Given the description of an element on the screen output the (x, y) to click on. 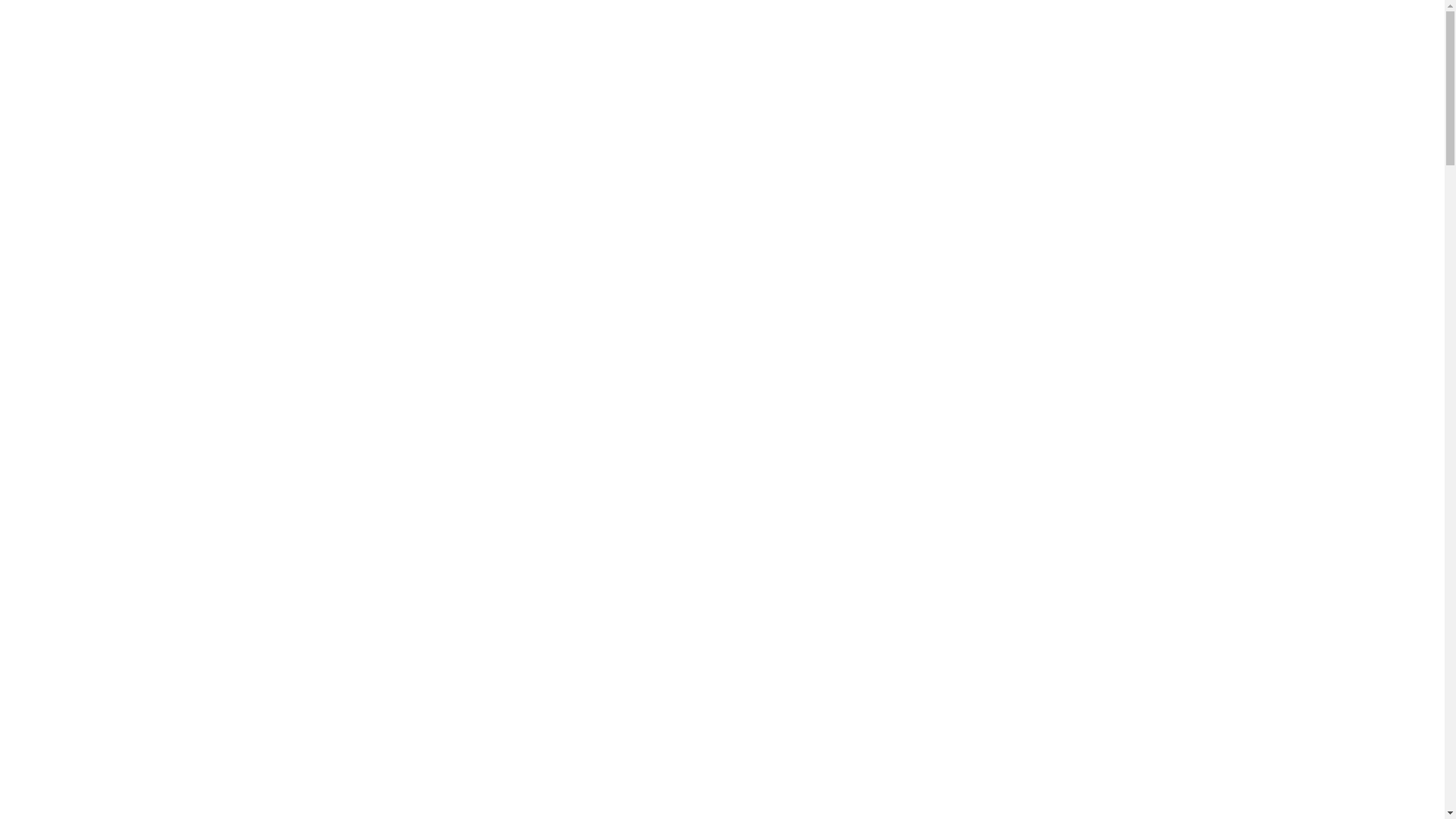
Skip to main content Element type: text (5, 5)
